Given the description of an element on the screen output the (x, y) to click on. 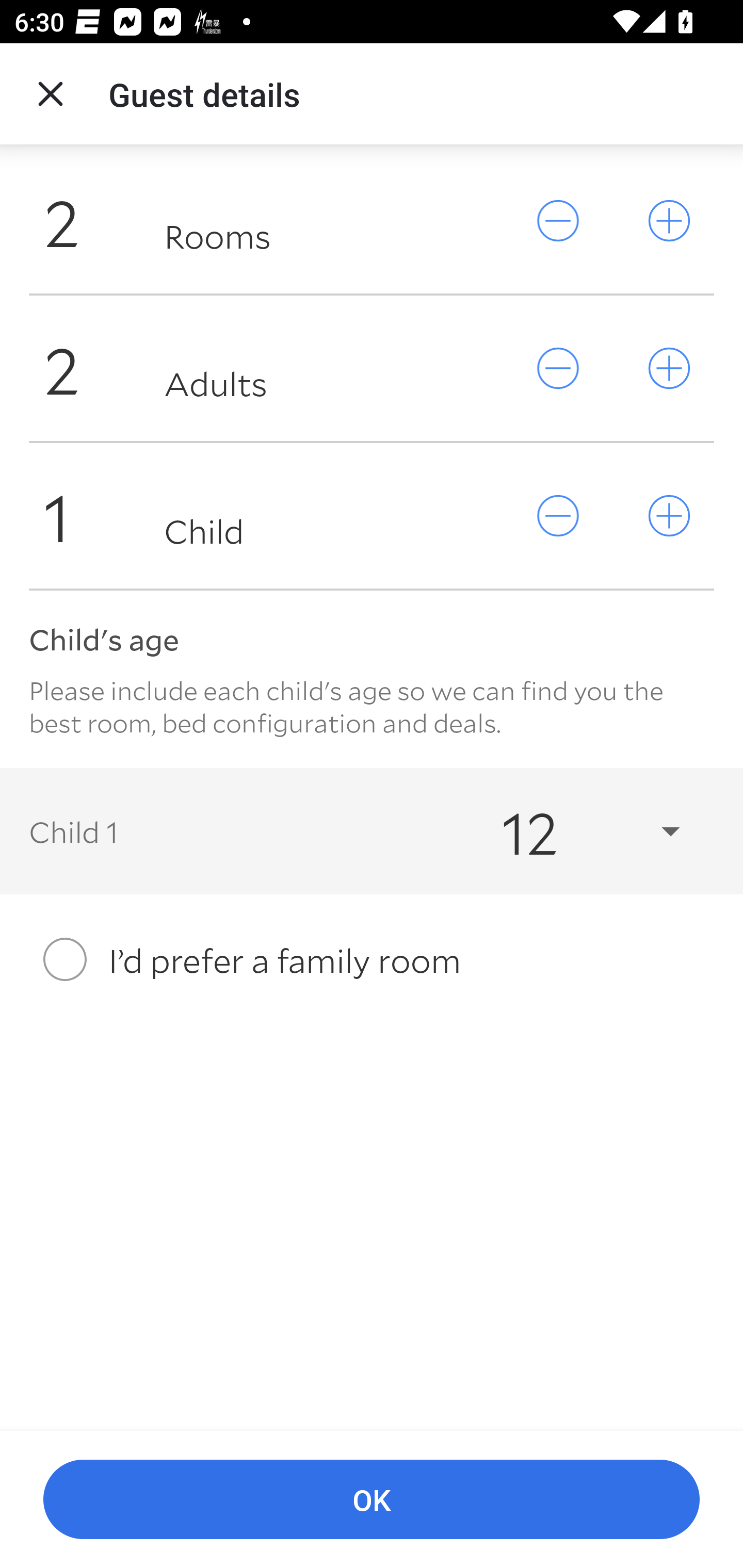
12 (573, 830)
I’d prefer a family room (371, 959)
OK (371, 1499)
